Given the description of an element on the screen output the (x, y) to click on. 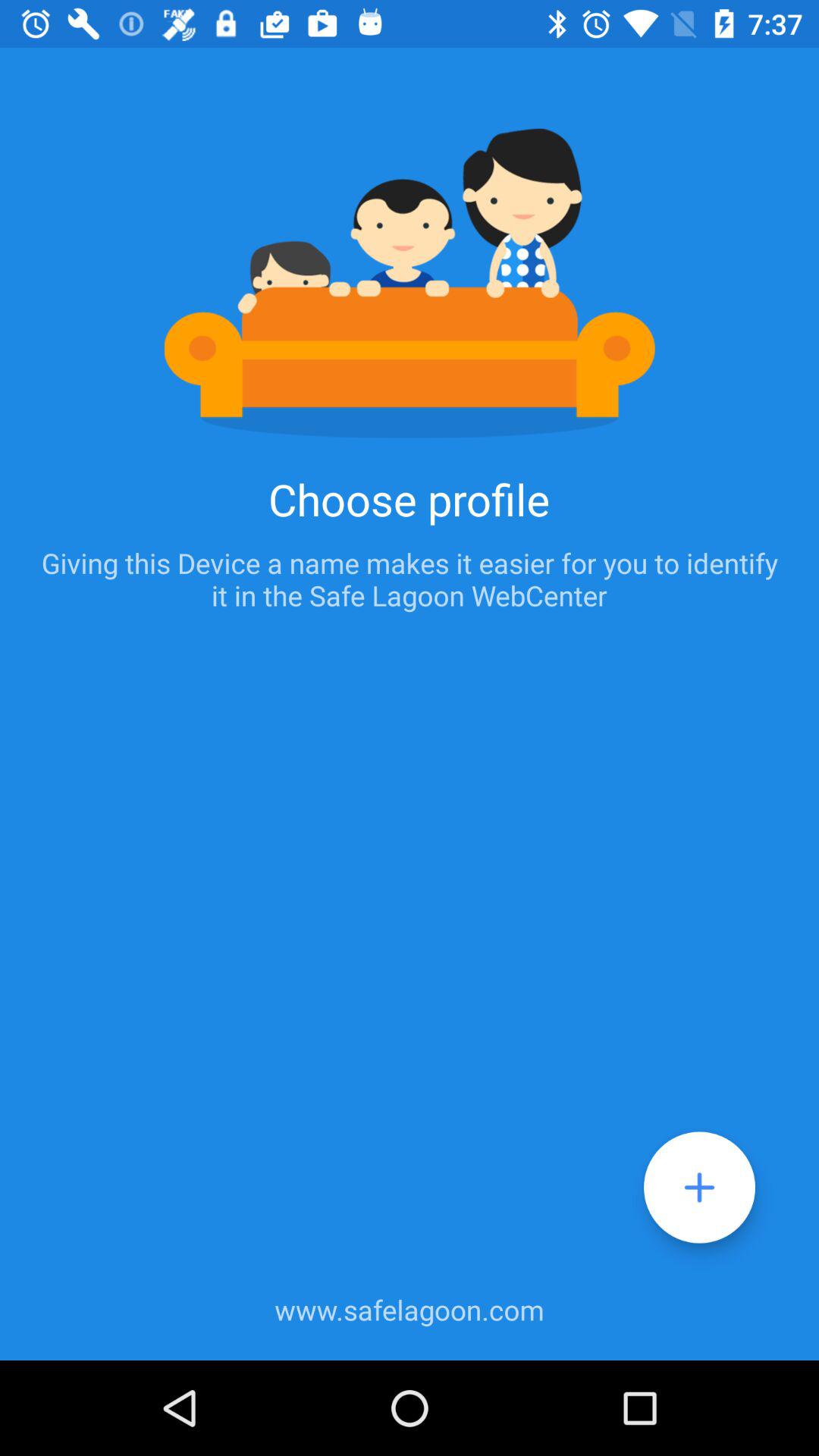
turn off icon below giving this device item (699, 1187)
